Given the description of an element on the screen output the (x, y) to click on. 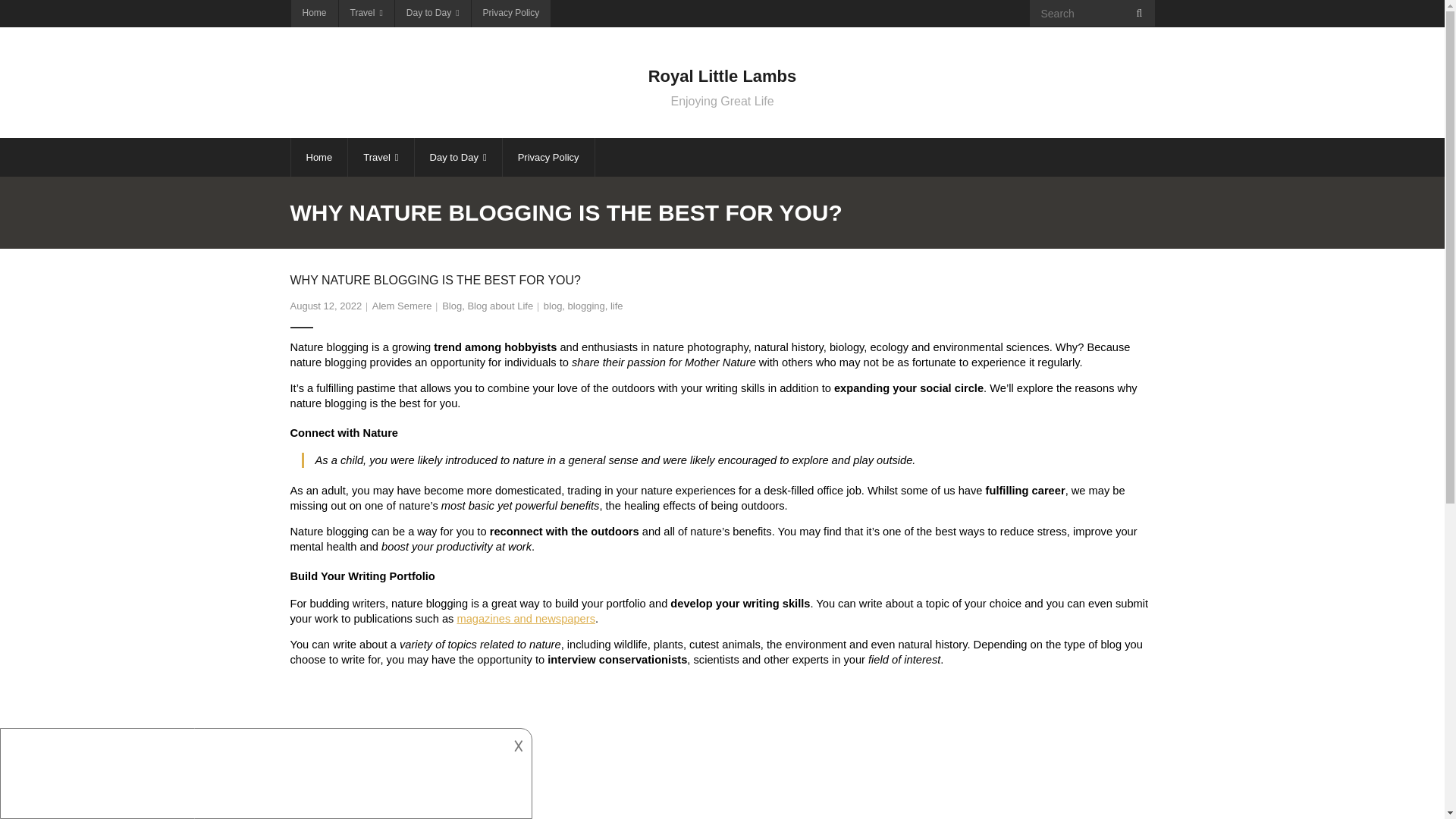
Privacy Policy (510, 13)
Enjoying Great Life (721, 101)
blog (552, 306)
Blog about Life (721, 82)
August 12, 2022 (499, 306)
Blog (325, 306)
Alem Semere (451, 306)
View all posts by Alem Semere (402, 306)
blogging (402, 306)
